Given the description of an element on the screen output the (x, y) to click on. 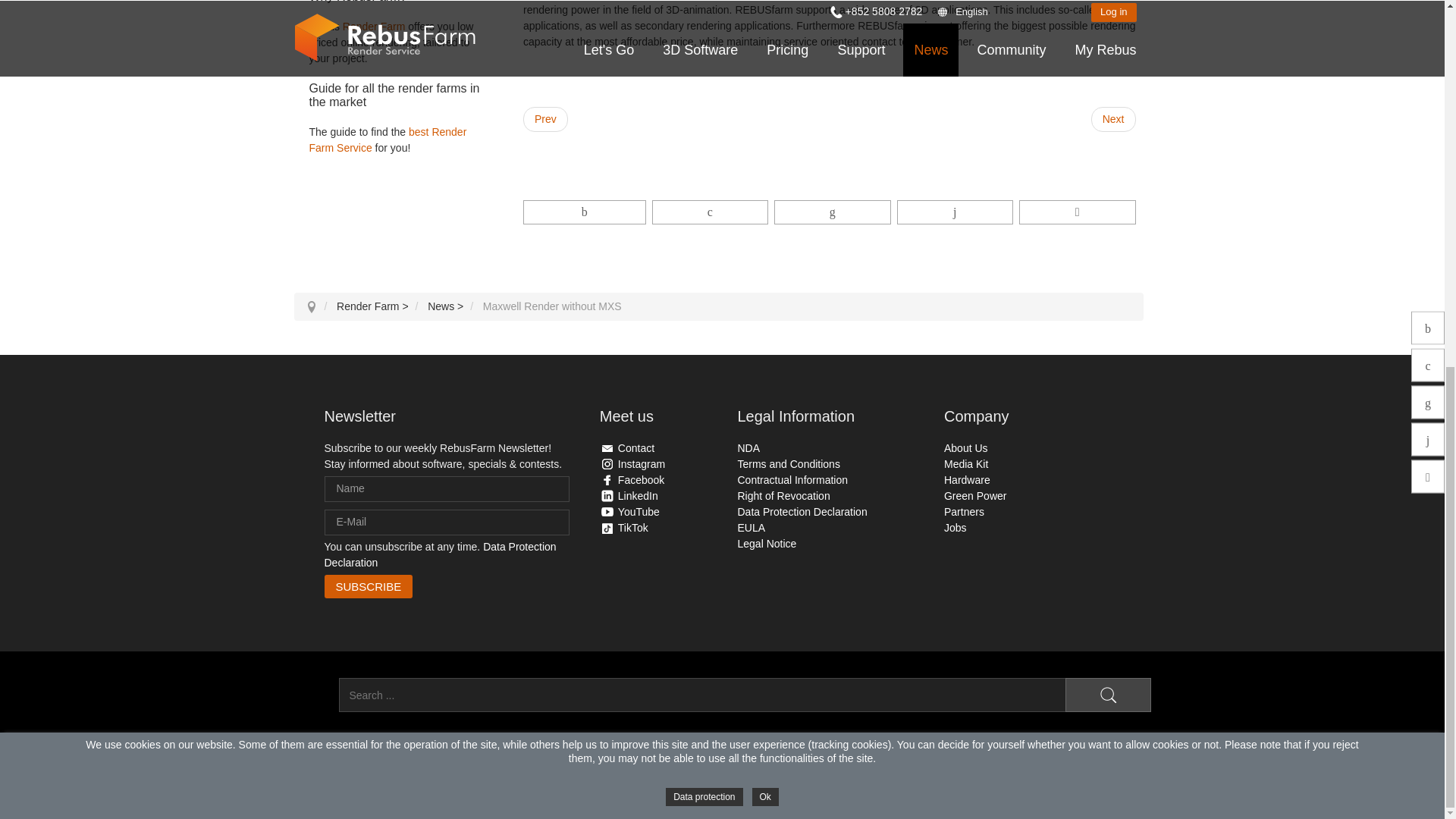
E-Mail (446, 522)
Subscribe (368, 586)
Name (446, 488)
